Given the description of an element on the screen output the (x, y) to click on. 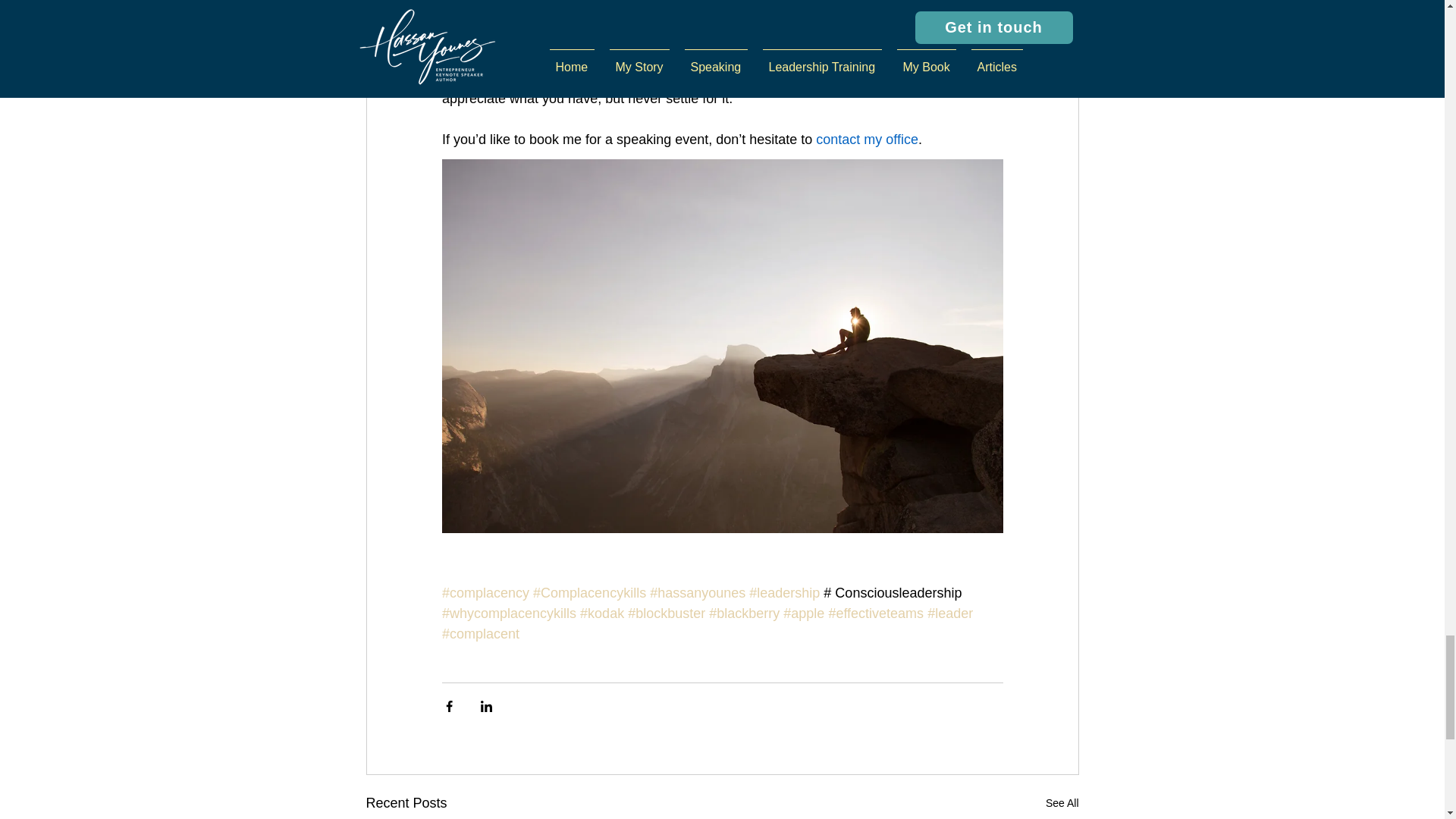
See All (1061, 803)
contact my office (866, 139)
